Given the description of an element on the screen output the (x, y) to click on. 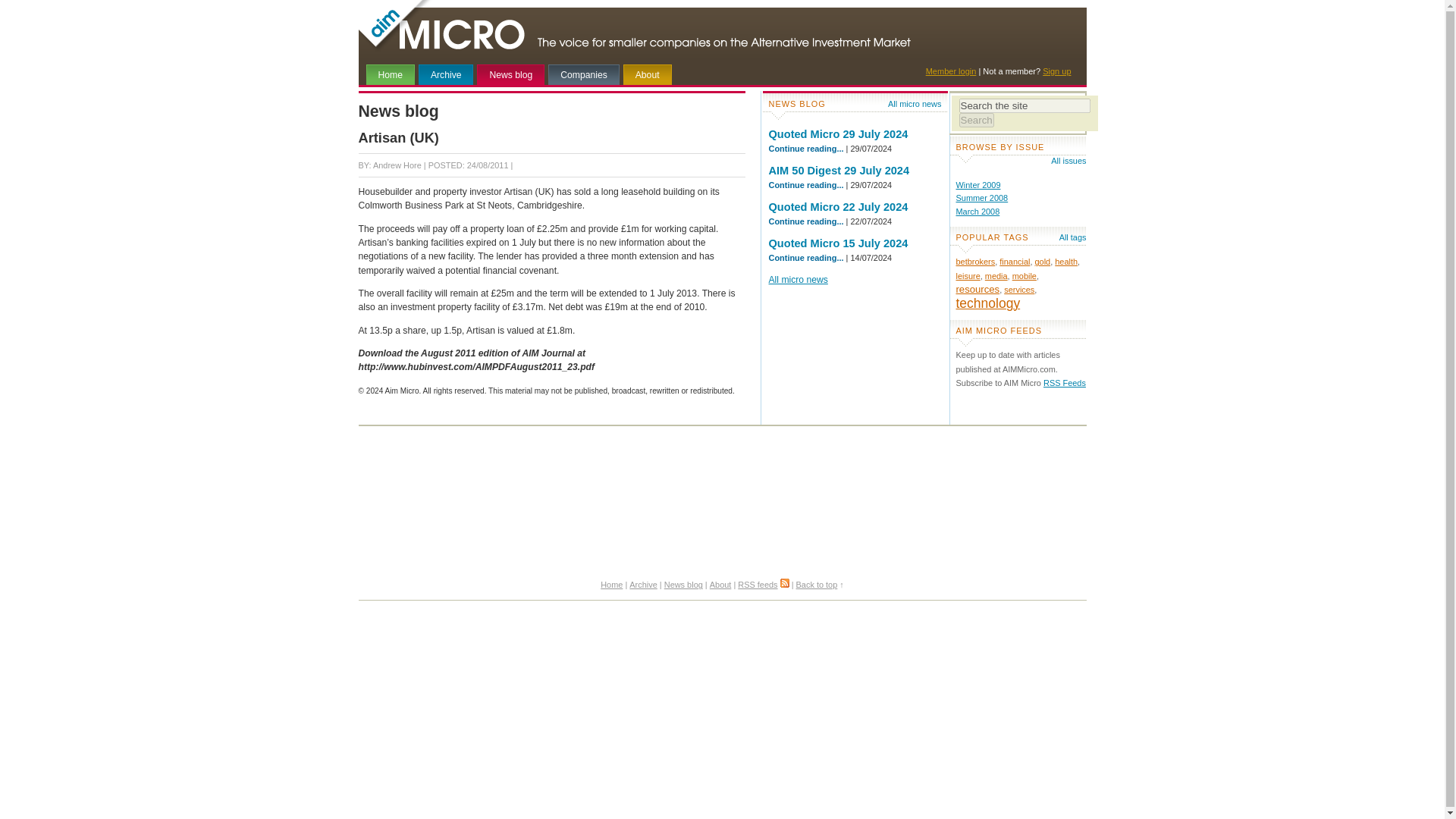
Summer 2008 (981, 197)
Aim Bulletin feeds (1064, 382)
Search (975, 120)
Companies (584, 74)
All issues (1062, 160)
Continue reading... (806, 257)
technology (987, 304)
Continue reading... (806, 221)
March 2008 (976, 211)
Quoted Micro 29 July 2024 (838, 133)
Archive (642, 583)
financial (1013, 261)
Archive (446, 74)
Continue reading... (806, 148)
Member login (951, 71)
